Given the description of an element on the screen output the (x, y) to click on. 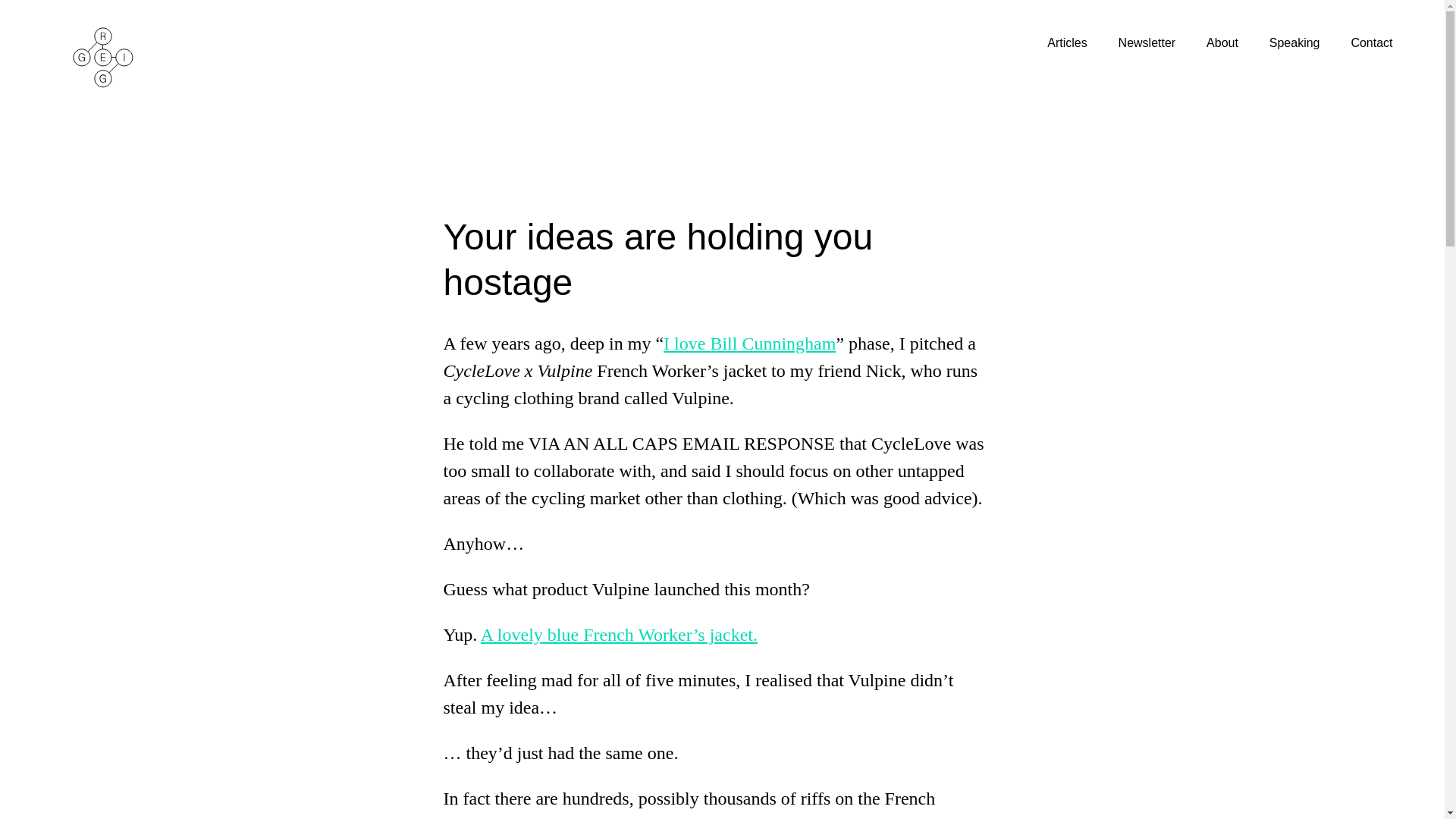
About Element type: text (1235, 43)
I love Bill Cunningham Element type: text (749, 343)
Newsletter Element type: text (1160, 43)
Contact Element type: text (1373, 43)
Speaking Element type: text (1308, 43)
Articles Element type: text (1080, 43)
